Given the description of an element on the screen output the (x, y) to click on. 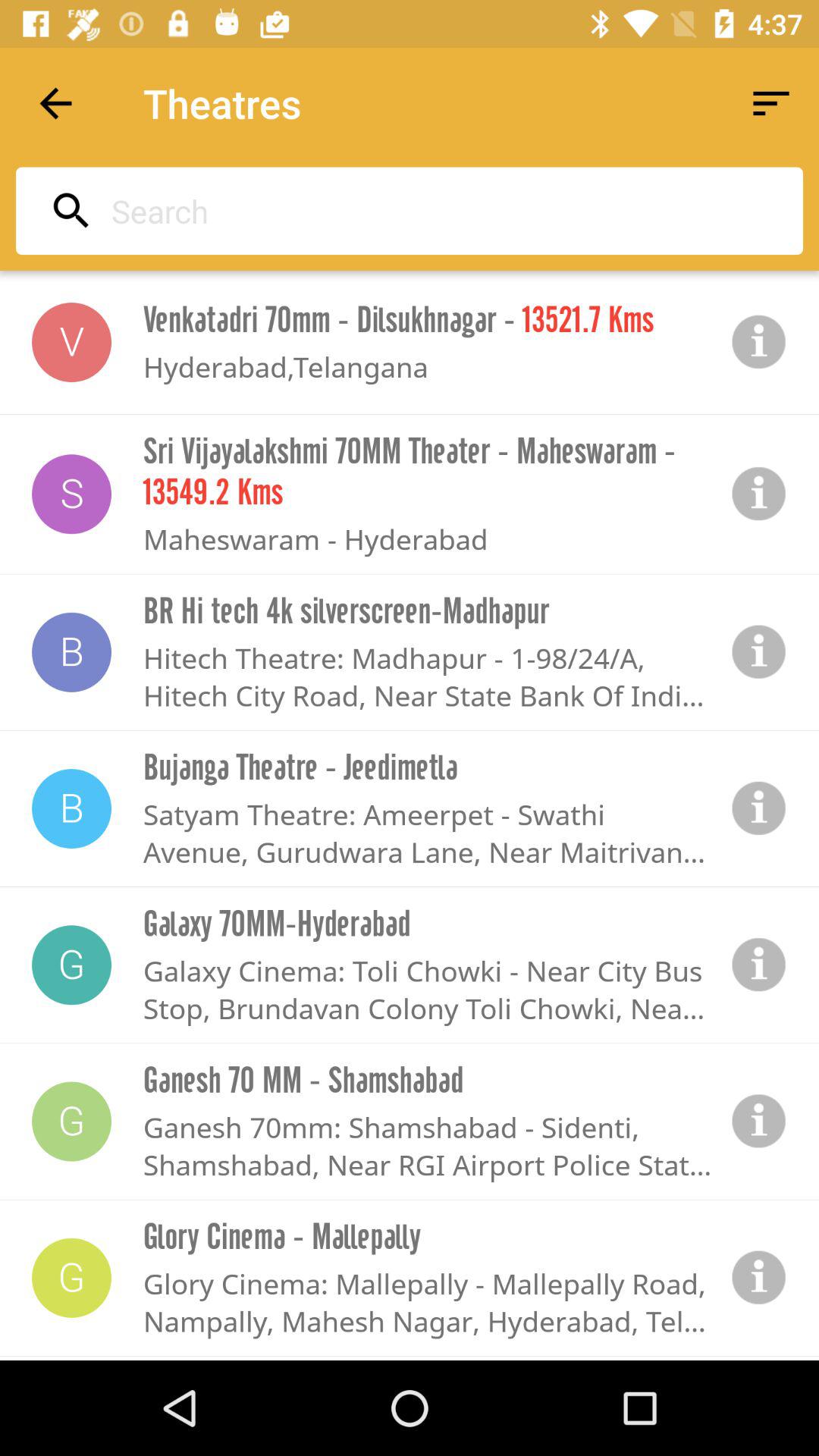
more information (759, 1277)
